Given the description of an element on the screen output the (x, y) to click on. 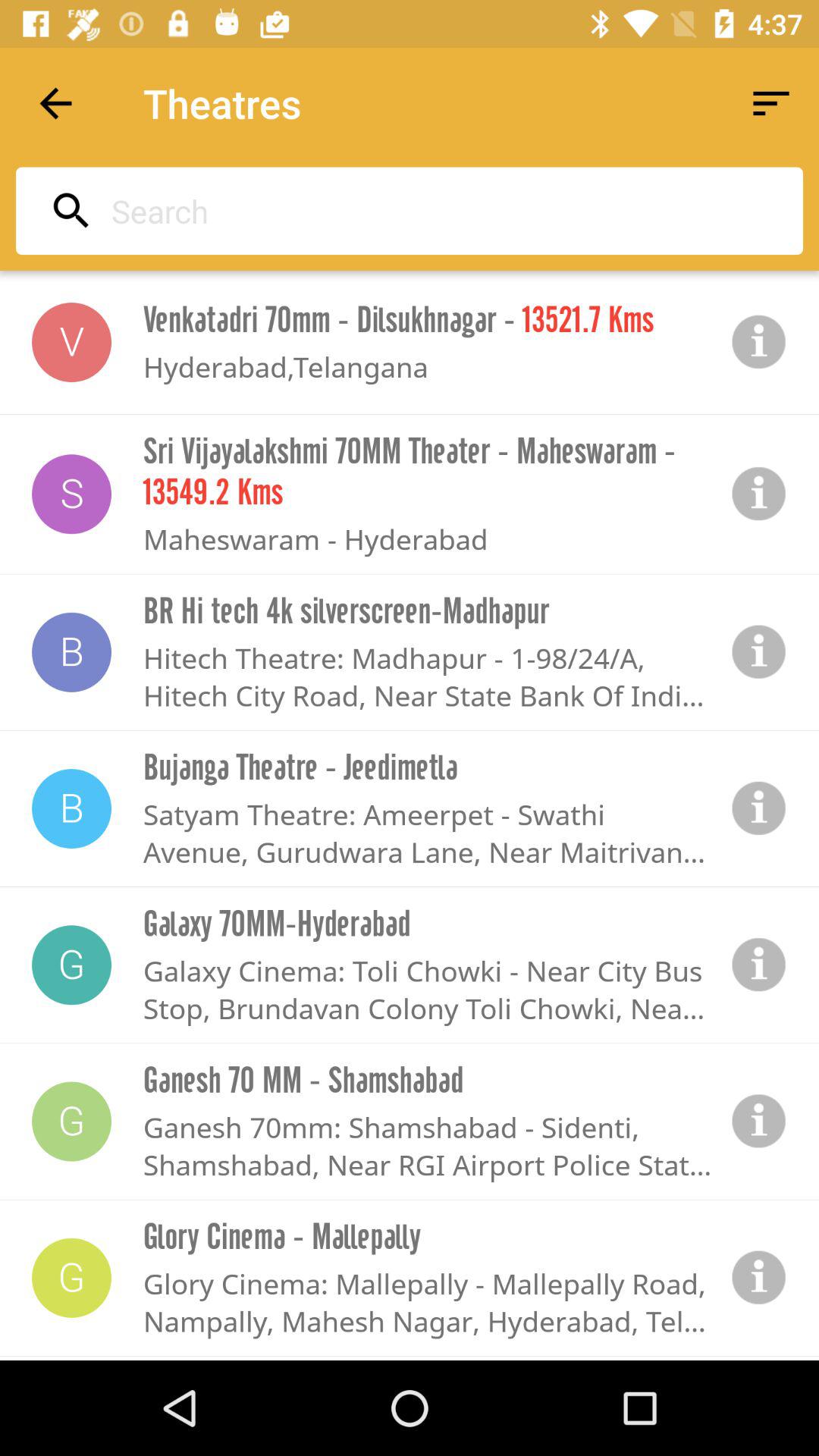
more information (759, 1277)
